Given the description of an element on the screen output the (x, y) to click on. 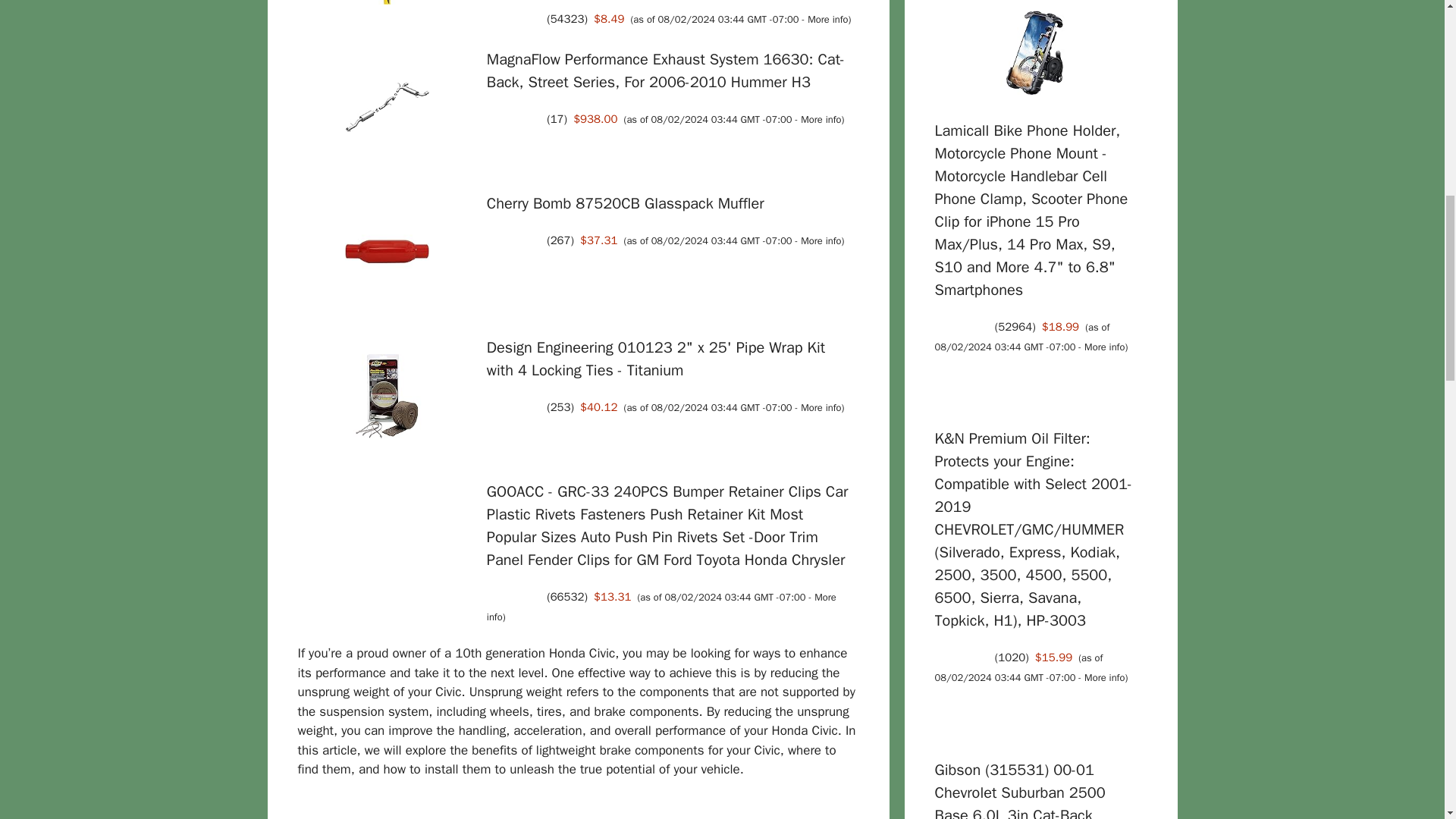
Cherry Bomb 87520CB Glasspack Muffler:  (625, 203)
267 (560, 240)
Design Engineering 010123 2 (655, 359)
66532 (567, 596)
Cherry Bomb 87520CB Glasspack Muffler (625, 203)
More info (827, 19)
Cherry Bomb 87520CB Glasspack Muffler:  (387, 254)
More info (820, 408)
